Given the description of an element on the screen output the (x, y) to click on. 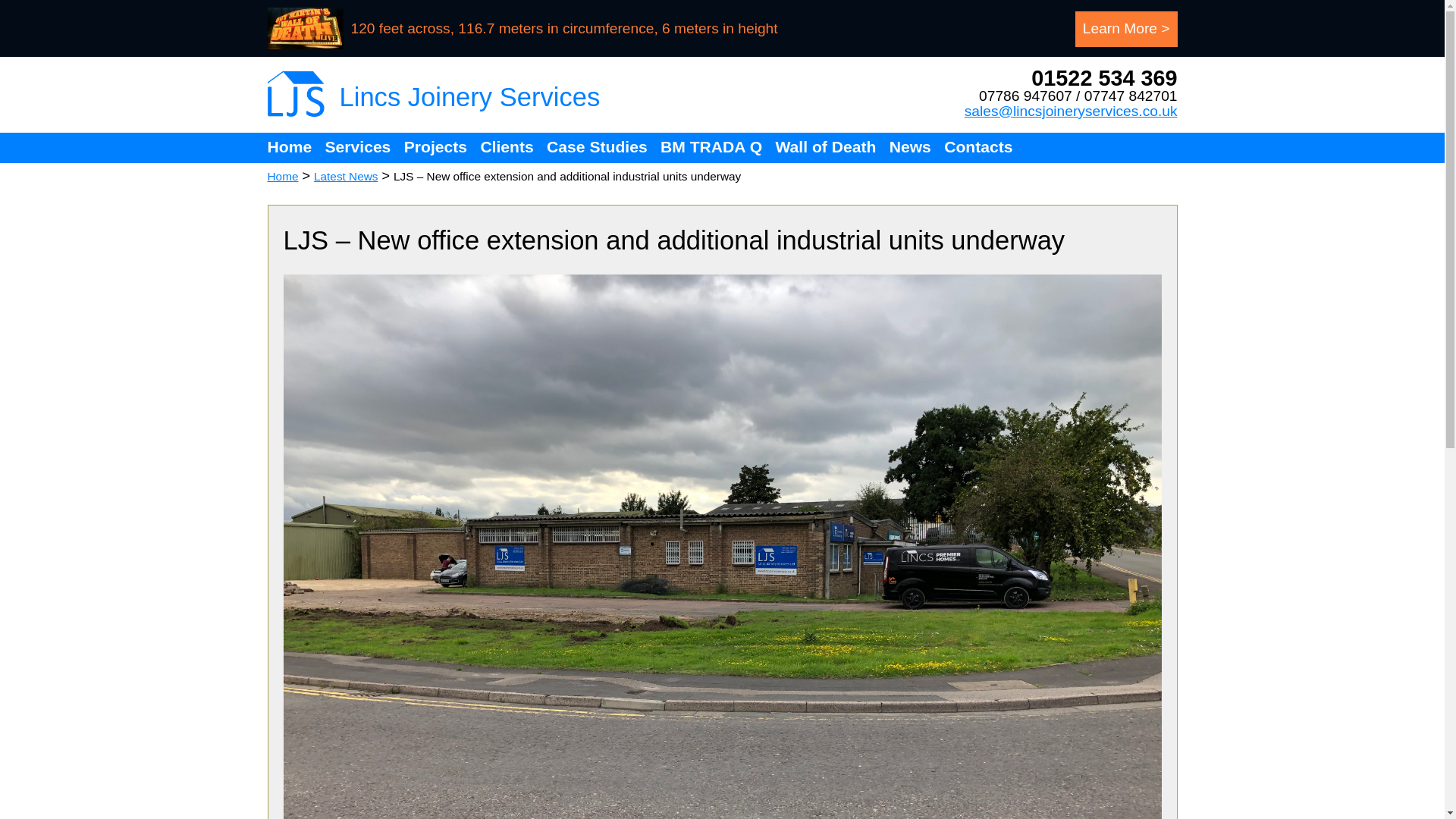
Latest News (346, 175)
Home (282, 175)
News (910, 147)
BM TRADA Q (711, 147)
Wall of Death (825, 147)
Home (282, 175)
Clients (506, 147)
Projects (434, 147)
Home (290, 147)
Services (357, 147)
